Given the description of an element on the screen output the (x, y) to click on. 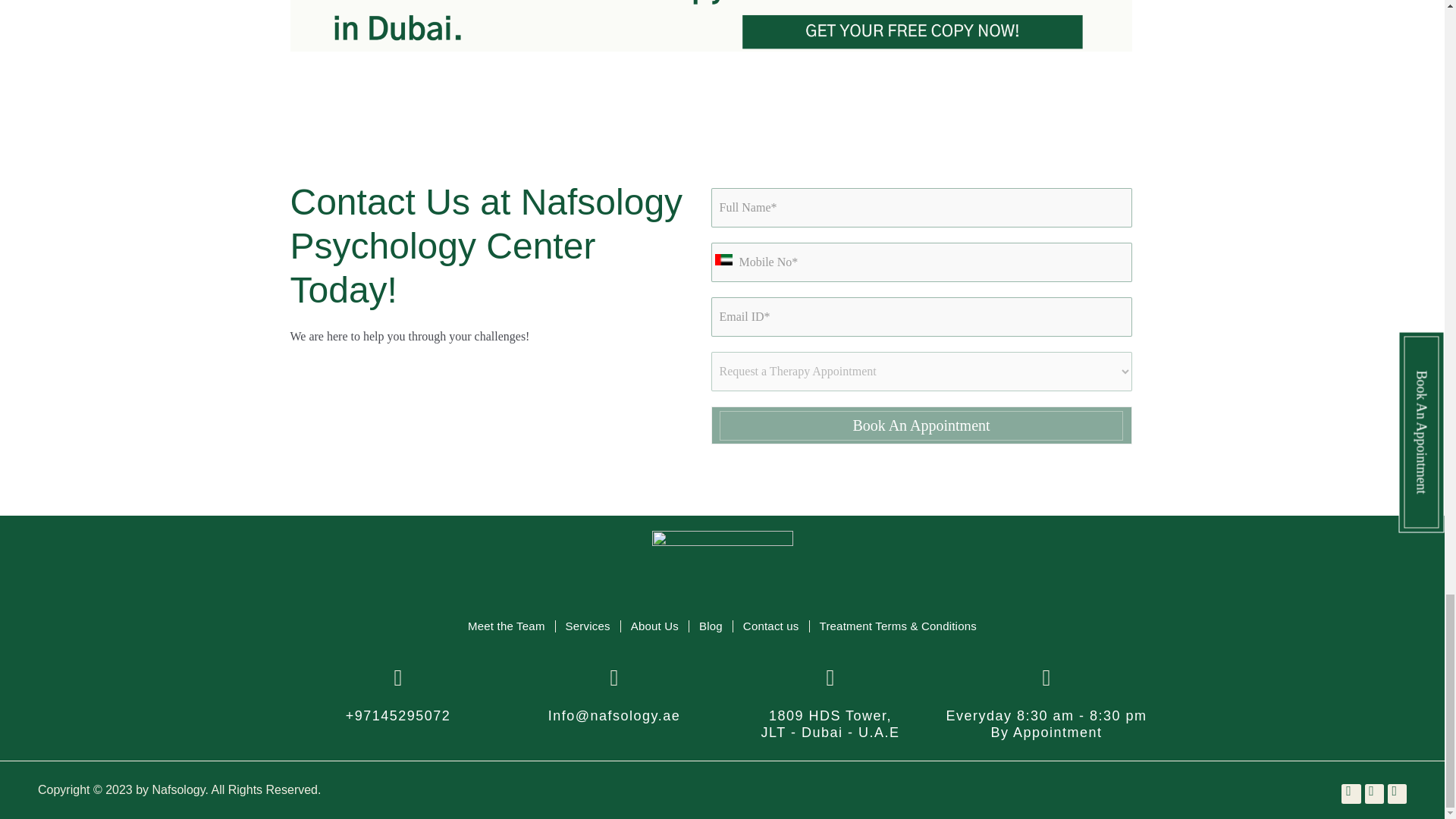
Meet the Team (506, 626)
Blog (710, 626)
Services (587, 626)
Contact us (770, 626)
About Us (654, 626)
Book An Appointment (921, 424)
